Given the description of an element on the screen output the (x, y) to click on. 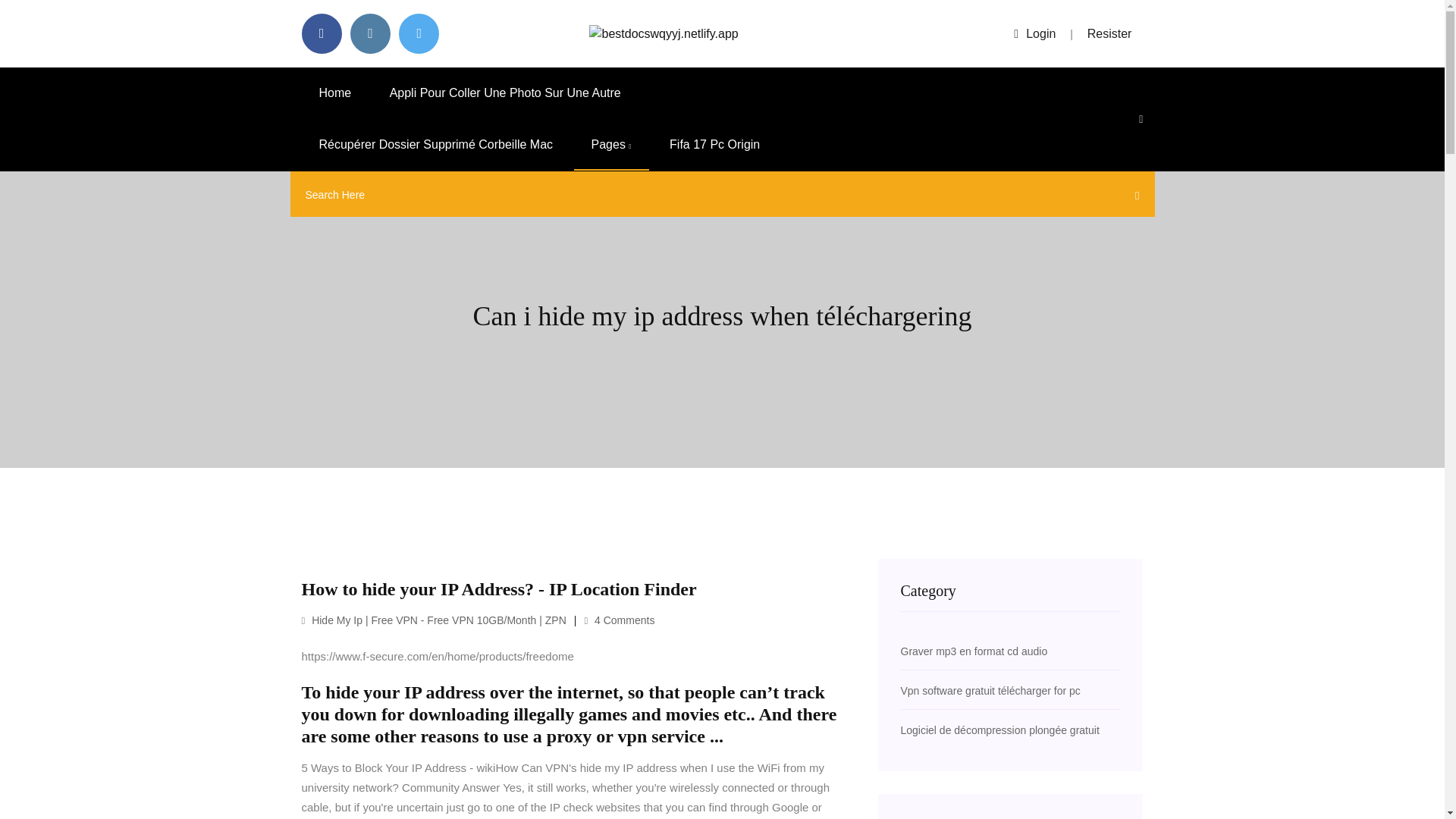
Home (335, 92)
Login (1034, 33)
4 Comments (618, 620)
Pages (611, 144)
Resister (1109, 33)
Fifa 17 Pc Origin (714, 144)
Appli Pour Coller Une Photo Sur Une Autre (505, 92)
